Given the description of an element on the screen output the (x, y) to click on. 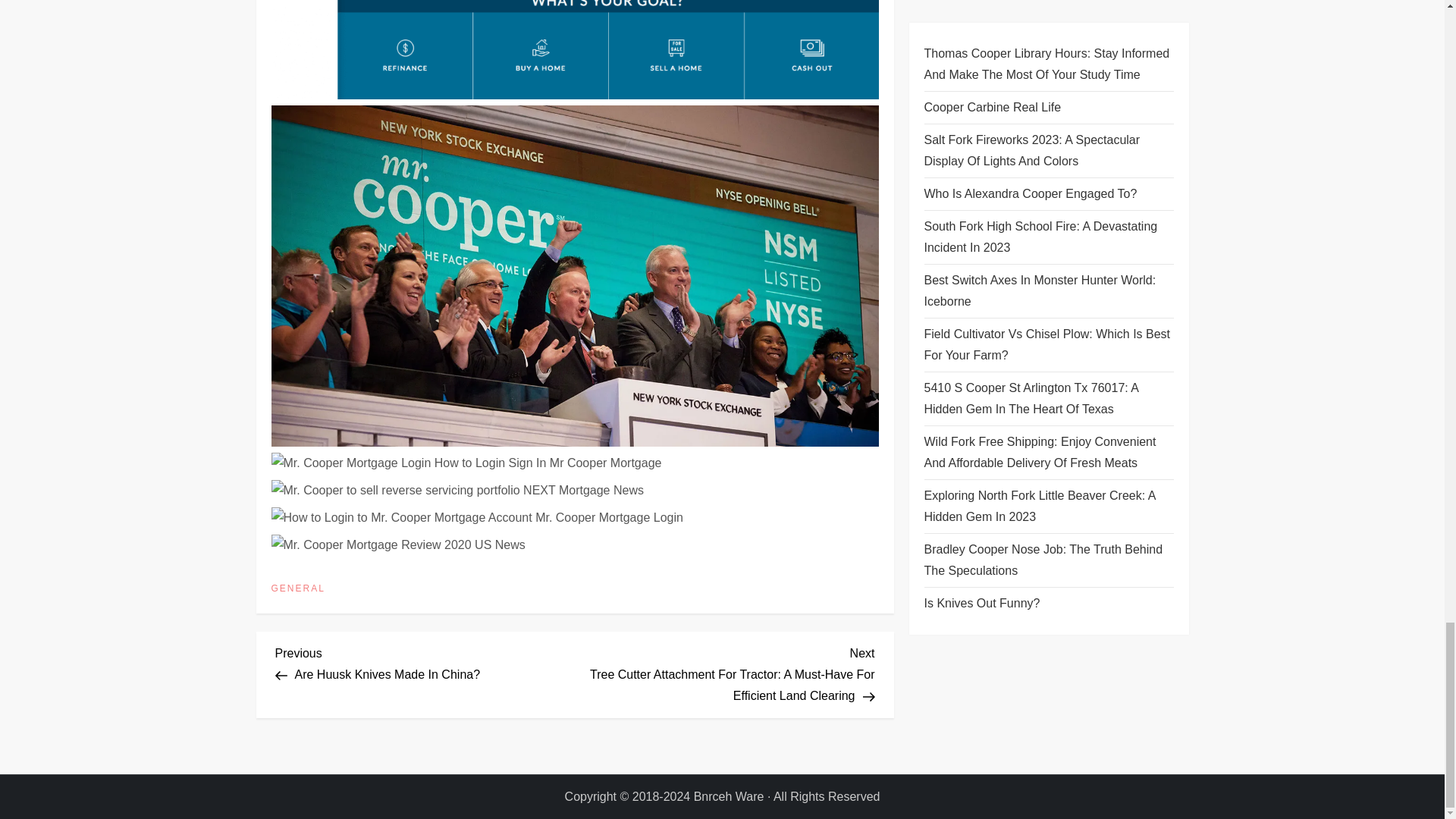
GENERAL (297, 589)
